Given the description of an element on the screen output the (x, y) to click on. 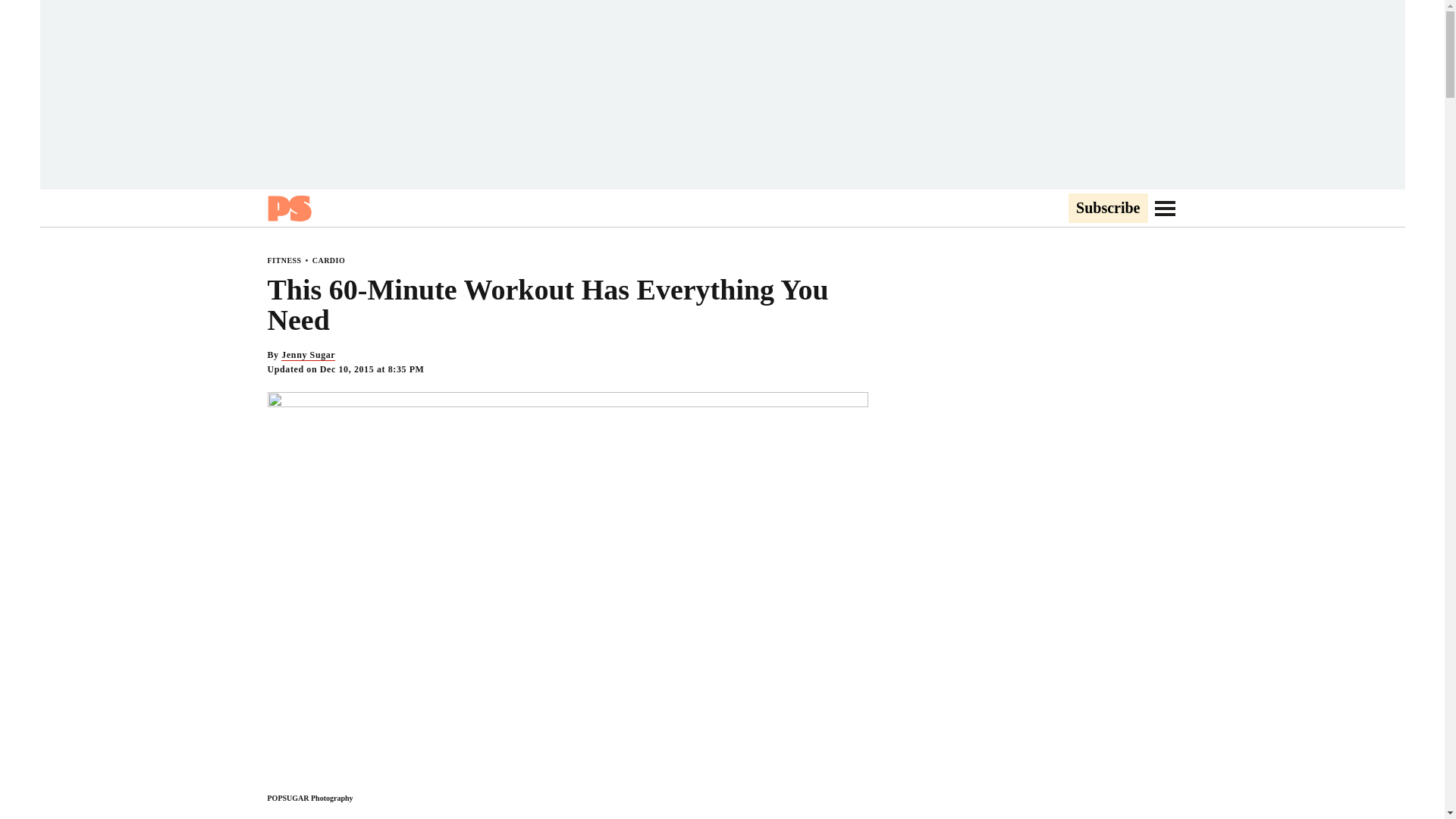
Go to Navigation (1164, 207)
Go to Navigation (1164, 207)
CARDIO (329, 260)
Popsugar (288, 208)
FITNESS (283, 260)
Jenny Sugar (307, 355)
Subscribe (1107, 208)
